Given the description of an element on the screen output the (x, y) to click on. 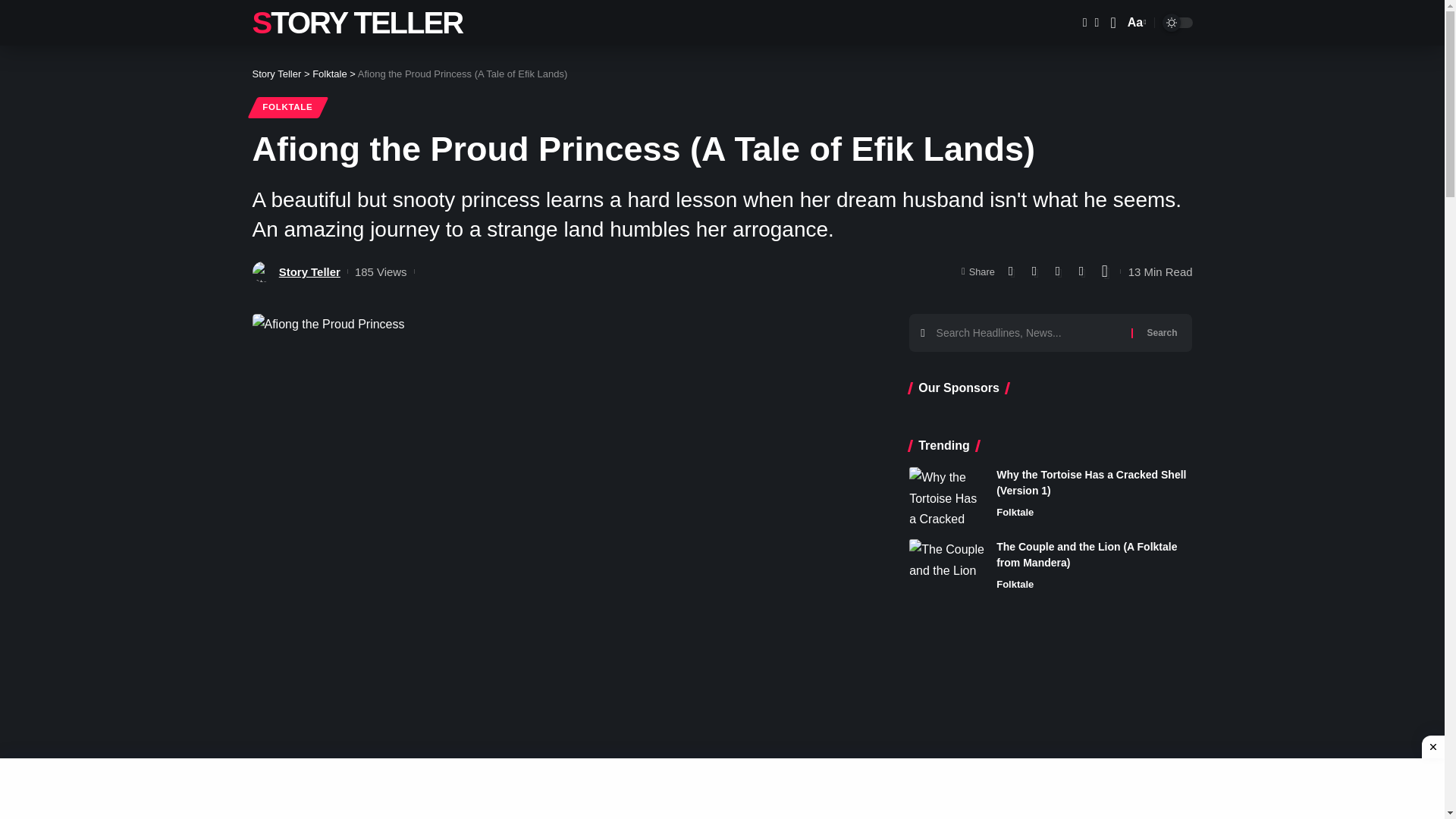
Story Teller (276, 73)
Go to Story Teller. (276, 73)
Folktale (330, 73)
Story Teller (309, 271)
Go to the Folktale Category archives. (330, 73)
STORY TELLER (357, 22)
FOLKTALE (287, 107)
Story Teller (357, 22)
Search (1135, 22)
